Given the description of an element on the screen output the (x, y) to click on. 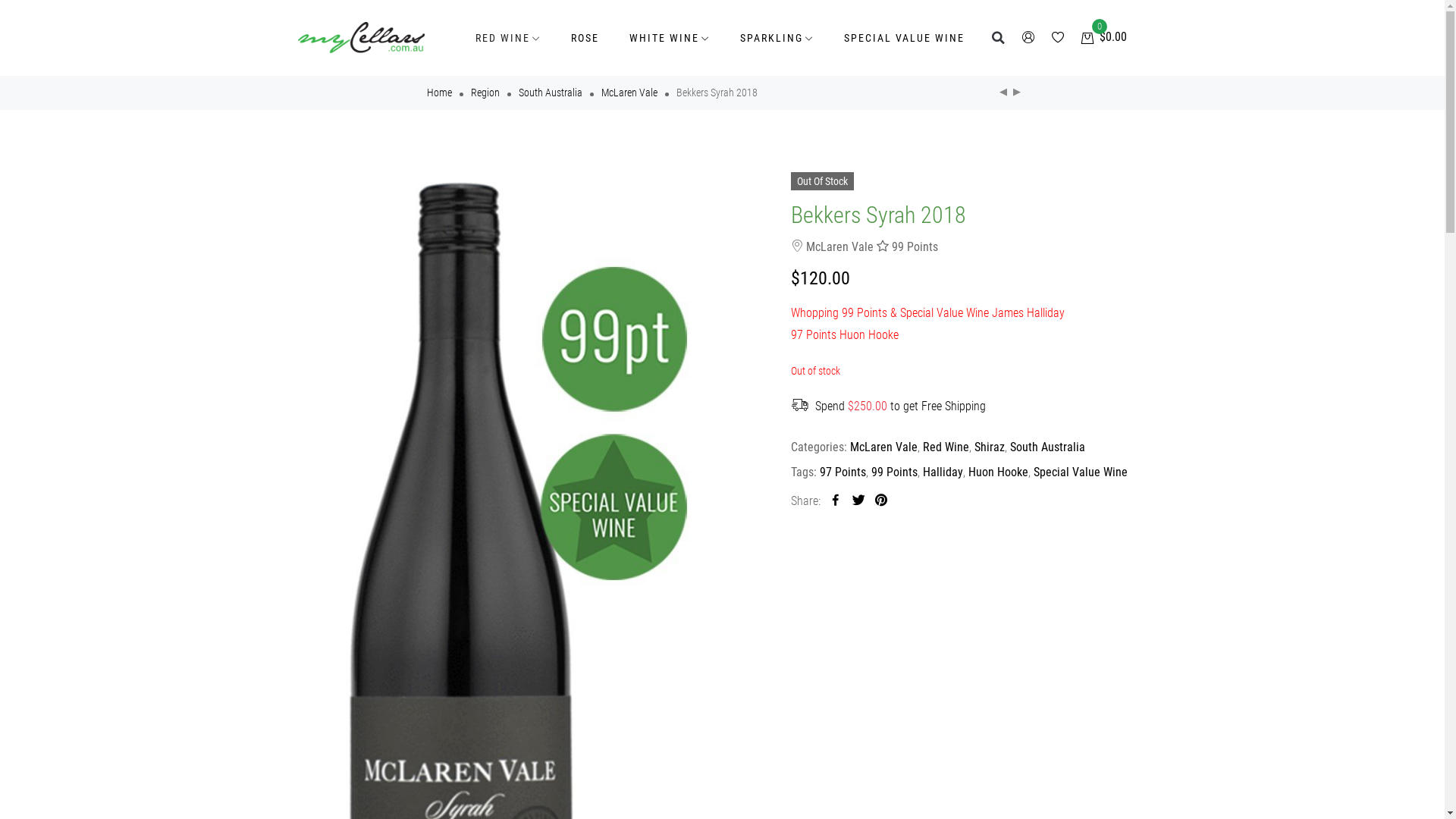
Home Element type: text (438, 92)
South Australia Element type: text (1047, 446)
Special Value Wine Element type: text (1079, 471)
WHITE WINE Element type: text (669, 37)
South Australia Element type: text (550, 92)
Lobethal Road Sauvignon Blanc 2023 Element type: hover (1003, 92)
McLaren Vale Element type: text (882, 446)
97 Points Element type: text (842, 471)
Region Element type: text (484, 92)
Share to facebook Element type: hover (835, 501)
Red Wine Element type: text (945, 446)
SPECIAL VALUE WINE Element type: text (903, 37)
Share to pinterest Element type: hover (880, 501)
RED WINE Element type: text (507, 37)
SPARKLING Element type: text (776, 37)
Huon Hooke Element type: text (997, 471)
myCellars.com.au Element type: hover (360, 37)
Robert Oatley Signature Series Cabernet Sauvignon 2019 Element type: hover (1016, 92)
ROSE Element type: text (584, 37)
99 Points Element type: text (893, 471)
Shiraz Element type: text (988, 446)
Login Element type: text (721, 503)
McLaren Vale Element type: text (629, 92)
Share to twitter Element type: hover (858, 501)
Halliday Element type: text (942, 471)
